Given the description of an element on the screen output the (x, y) to click on. 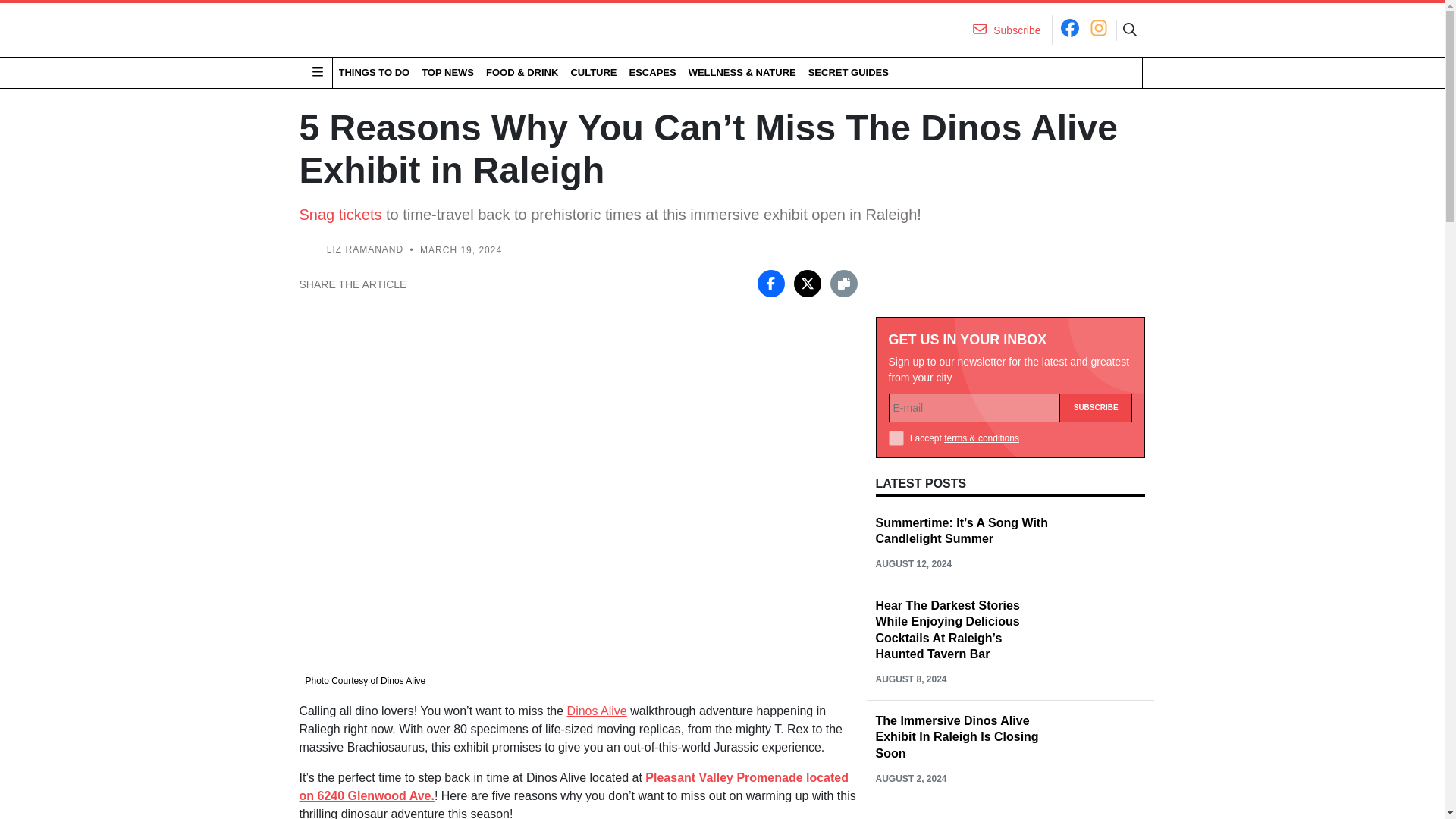
AUGUST 12, 2024 (913, 563)
TOP NEWS (448, 72)
Subscribe (1095, 407)
LIZ RAMANAND (364, 249)
SECRET GUIDES (848, 72)
AUGUST 2, 2024 (910, 778)
THINGS TO DO (373, 72)
Subscribe (1095, 407)
Snag tickets (339, 214)
ESCAPES (652, 72)
